Given the description of an element on the screen output the (x, y) to click on. 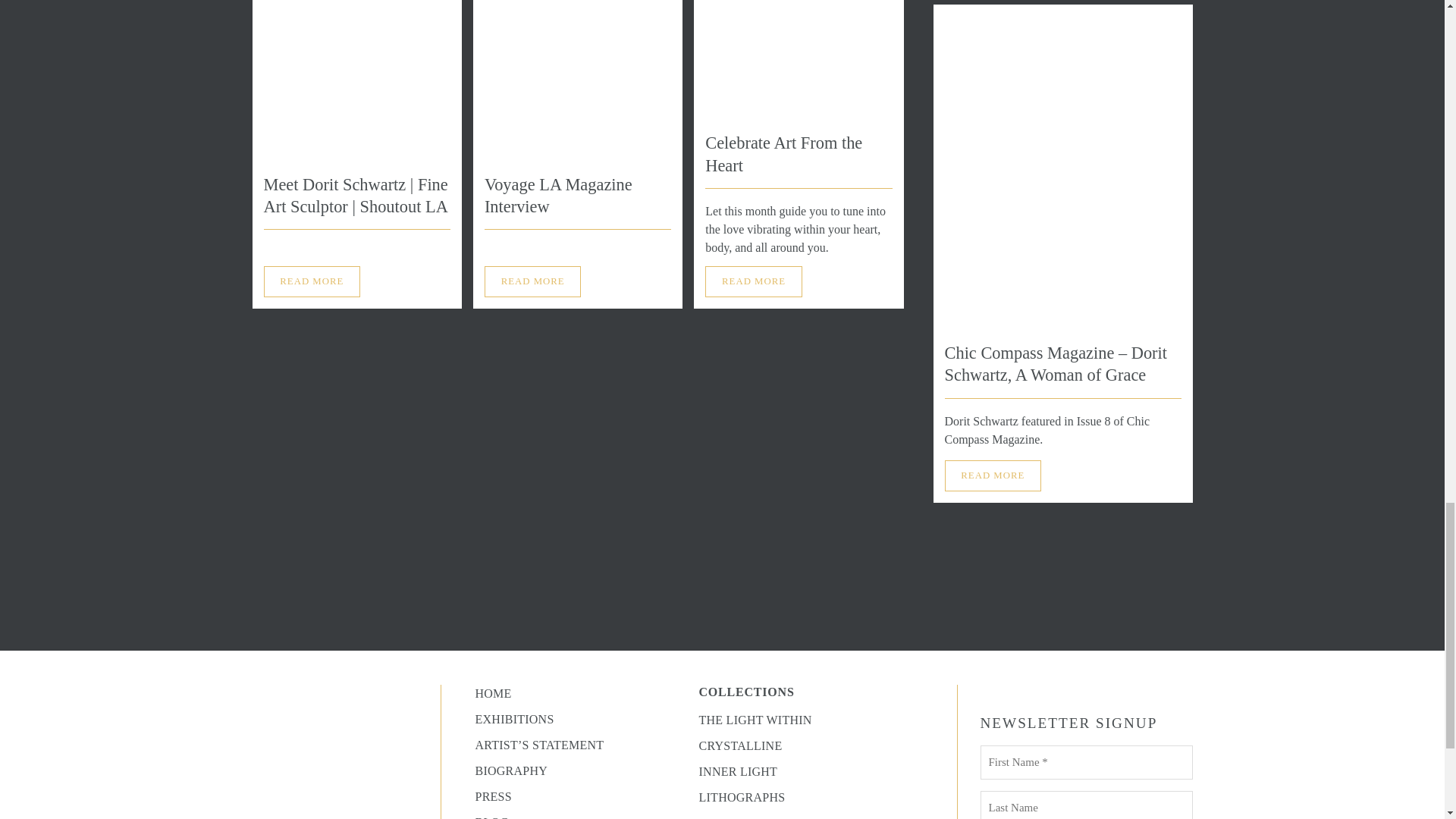
READ MORE (532, 281)
READ MORE (993, 475)
READ MORE (312, 281)
HOME (492, 693)
READ MORE (753, 281)
Celebrate Art From the Heart (782, 153)
Voyage LA Magazine Interview (557, 195)
DORIT SCHWARTZ SCULPTOR (345, 796)
